Given the description of an element on the screen output the (x, y) to click on. 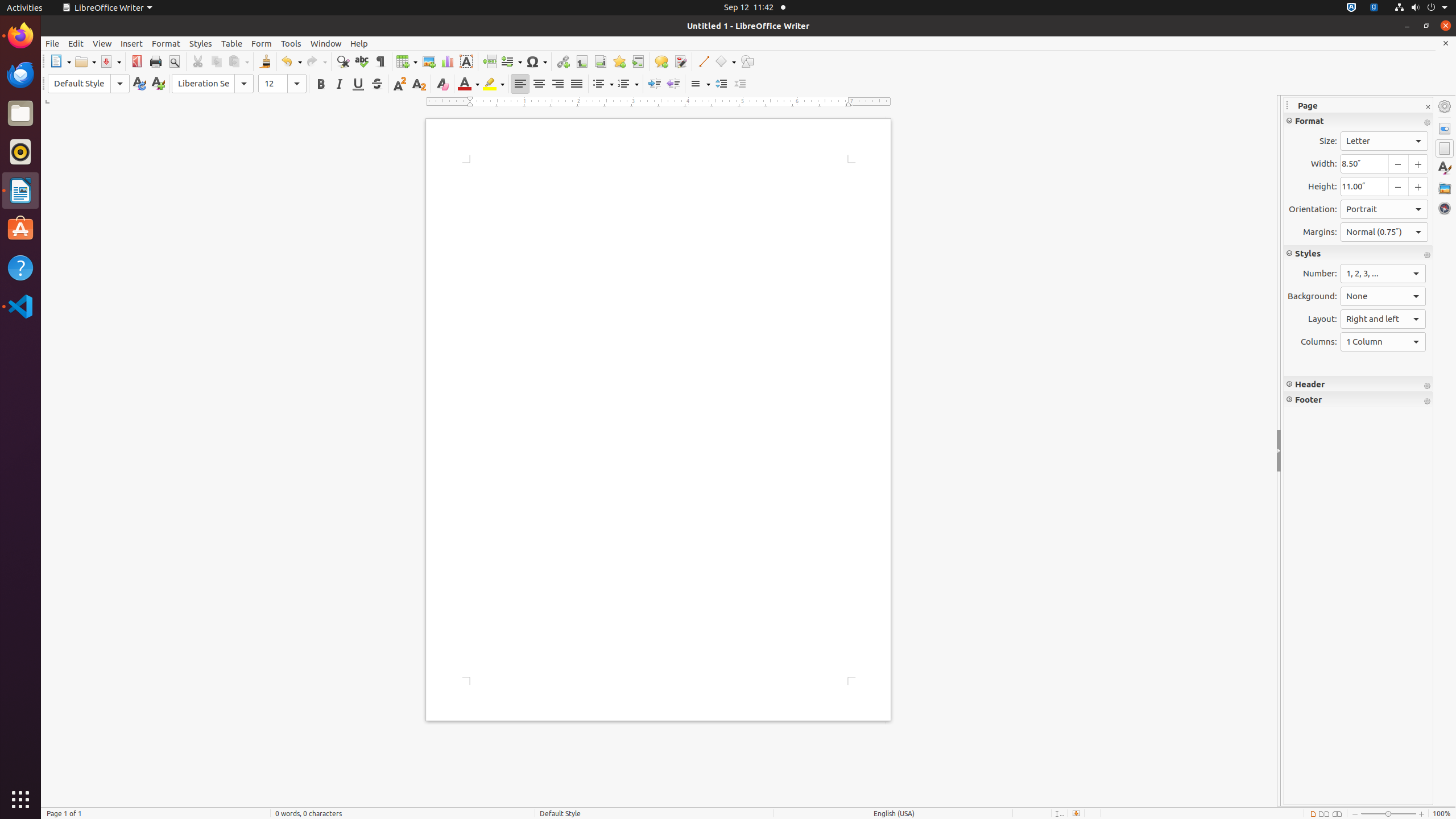
Field Element type: push-button (510, 61)
Comment Element type: push-button (660, 61)
Help Element type: menu (358, 43)
Find & Replace Element type: toggle-button (342, 61)
Center Element type: toggle-button (538, 83)
